Given the description of an element on the screen output the (x, y) to click on. 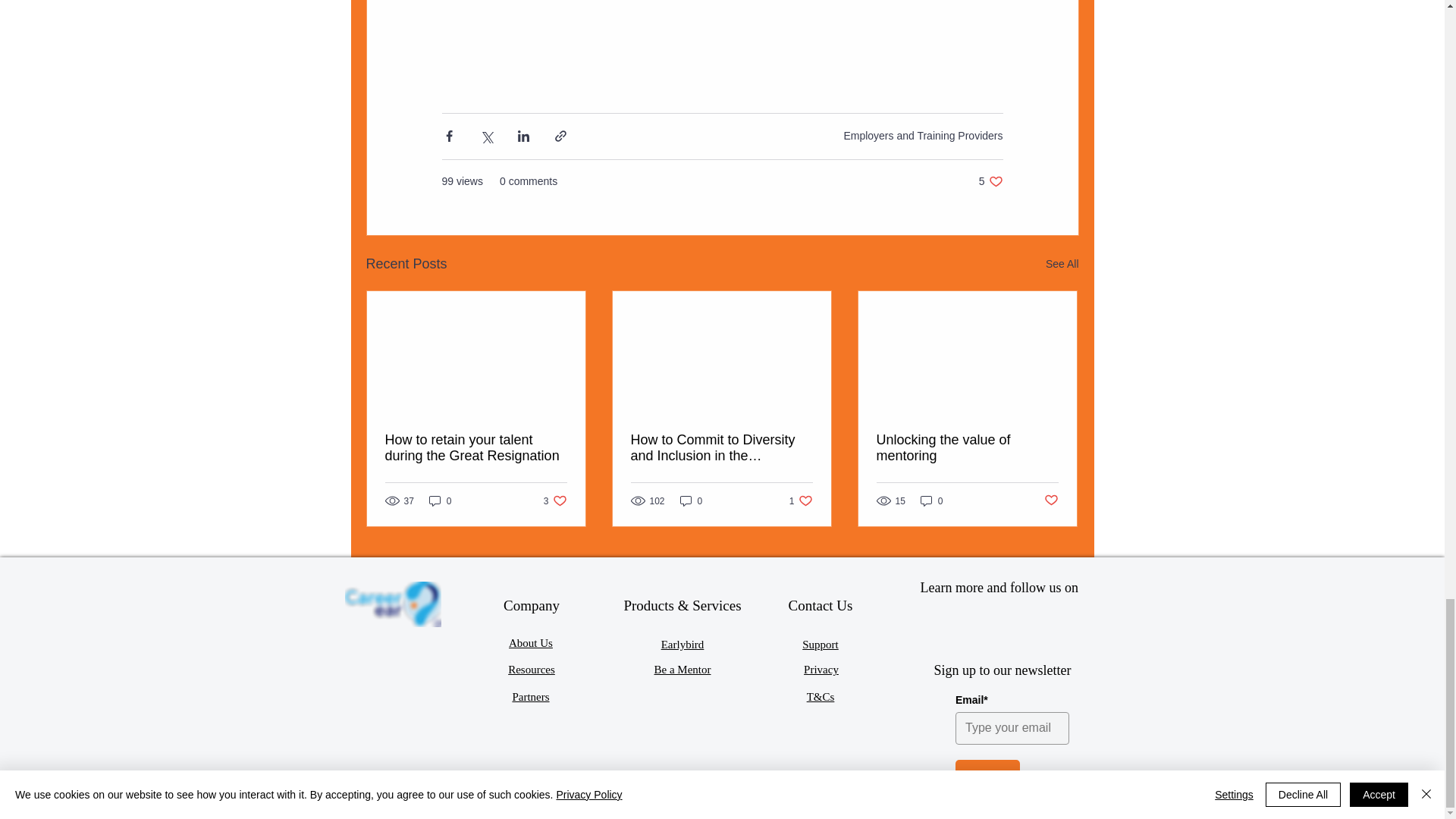
How to Commit to Diversity and Inclusion in the Workplace (721, 448)
Support (820, 644)
See All (1061, 264)
Employers and Training Providers (923, 135)
How to retain your talent during the Great Resignation (476, 448)
Privacy (990, 181)
0 (820, 669)
Main logo.png (931, 500)
Unlocking the value of mentoring (392, 604)
